Given the description of an element on the screen output the (x, y) to click on. 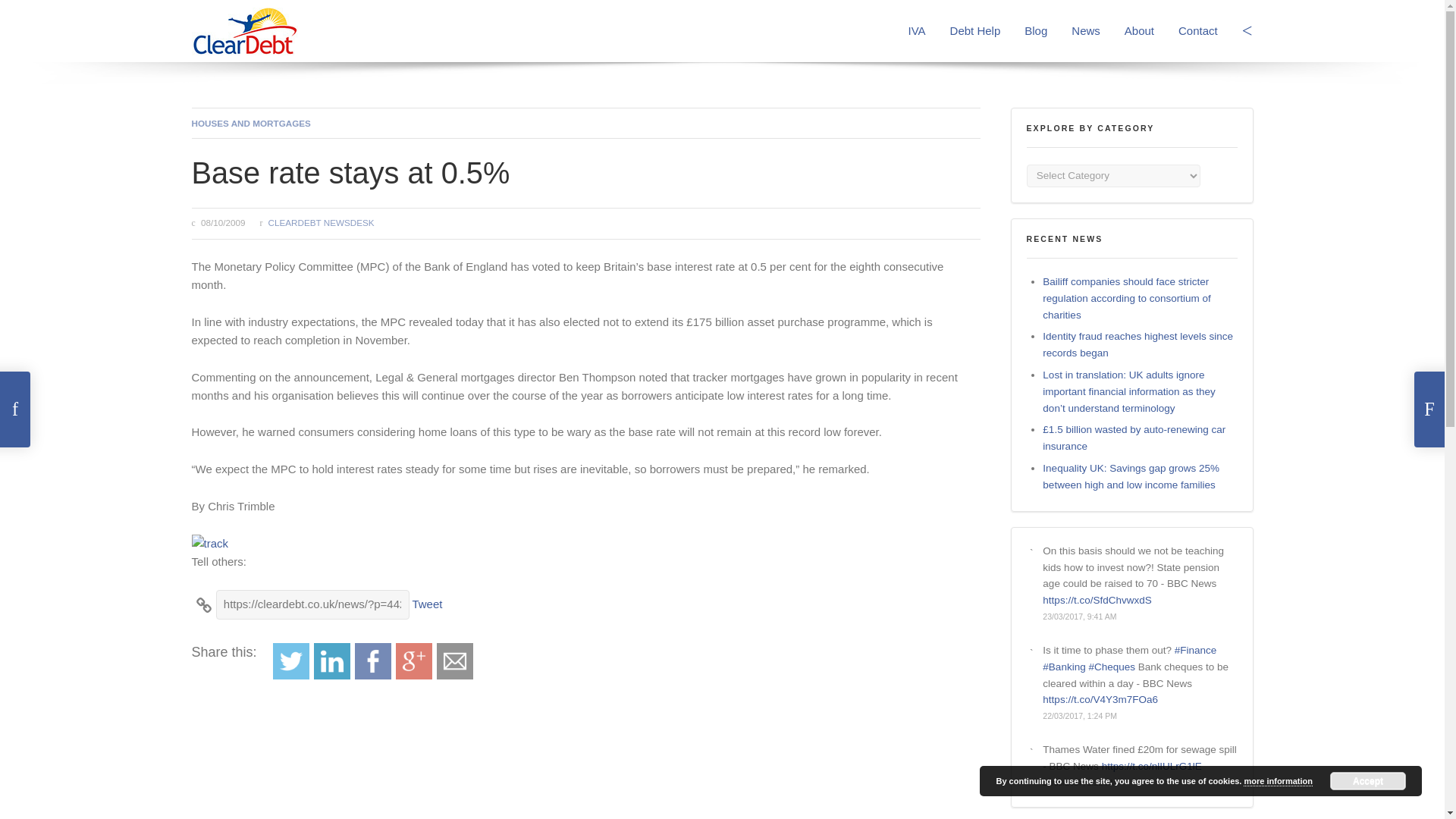
Identity fraud reaches highest levels since records began (1139, 344)
About (1139, 30)
Debt Help (975, 30)
IVA (916, 30)
CLEARDEBT NEWSDESK (320, 222)
Debt Help (975, 30)
Share via Google (414, 659)
Shortlink (202, 605)
Blog (1035, 30)
News (1085, 30)
